Given the description of an element on the screen output the (x, y) to click on. 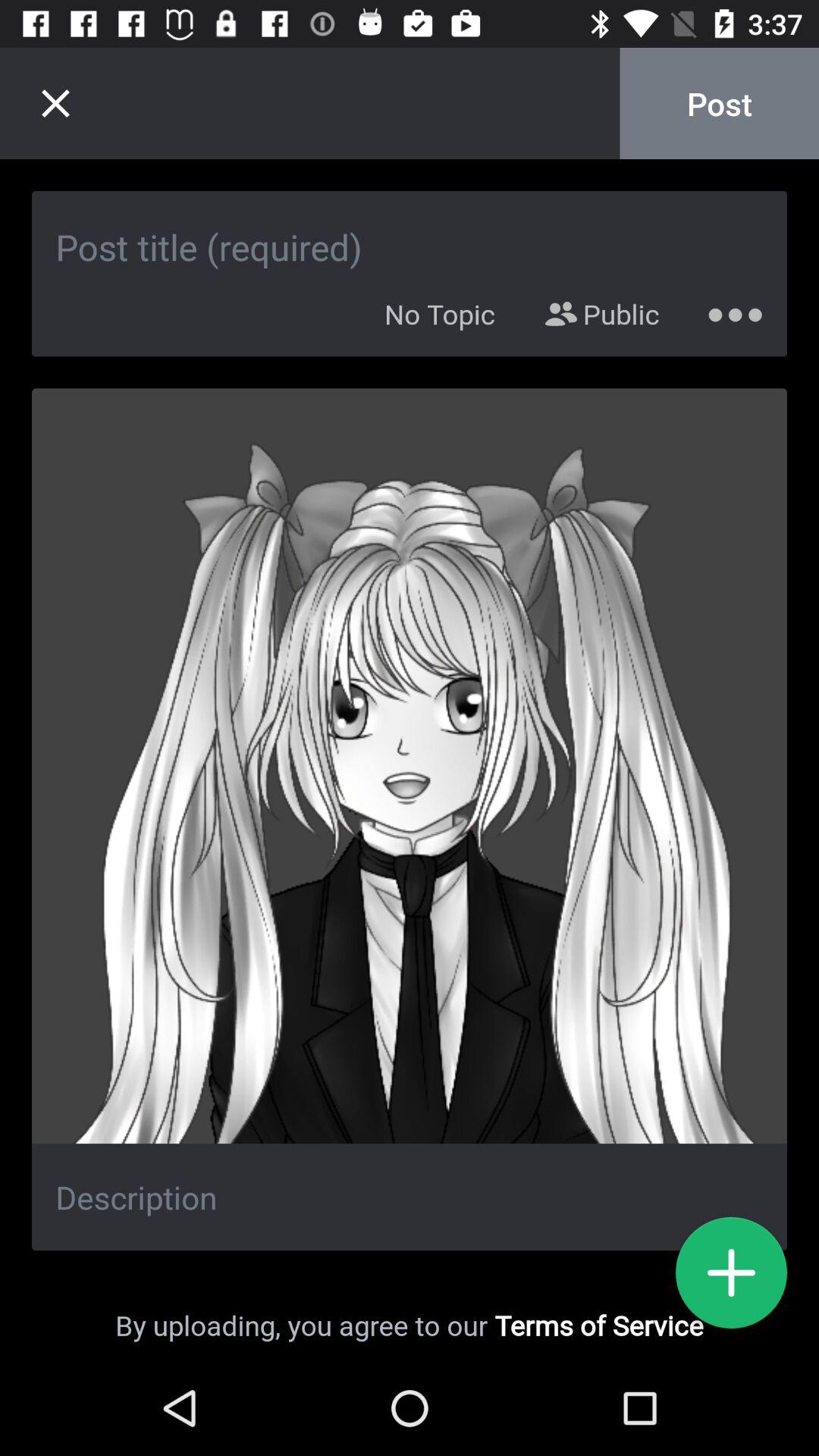
add description (409, 1196)
